Given the description of an element on the screen output the (x, y) to click on. 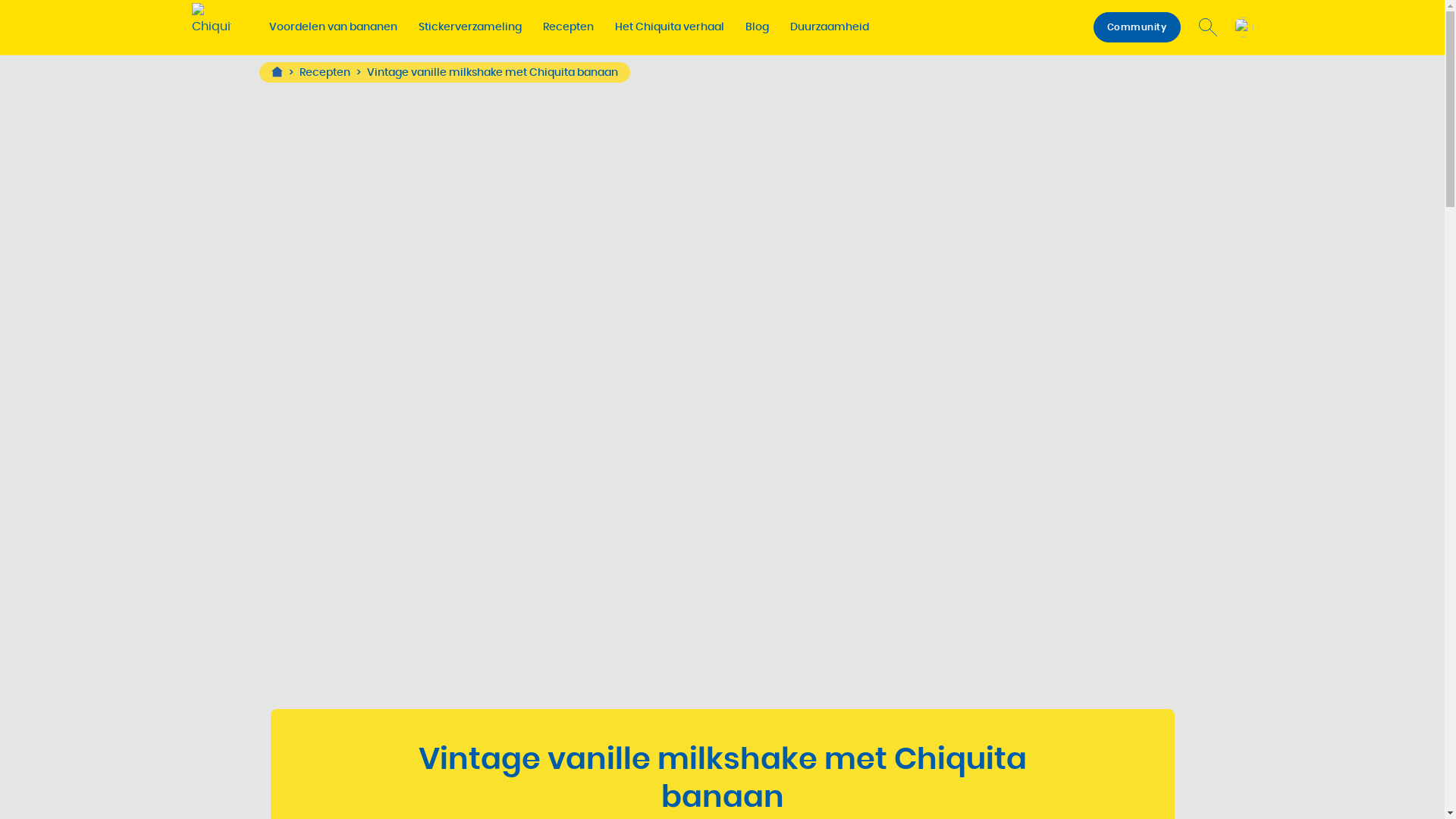
Blog Element type: text (756, 27)
Het Chiquita verhaal Element type: text (668, 27)
Stickerverzameling Element type: text (469, 27)
Vintage vanille milkshake met Chiquita banaan Element type: text (492, 72)
Duurzaamheid Element type: text (829, 27)
Voordelen van bananen Element type: text (332, 27)
Recepten Element type: text (567, 27)
Community Element type: text (1136, 27)
Recepten Element type: text (332, 72)
